Given the description of an element on the screen output the (x, y) to click on. 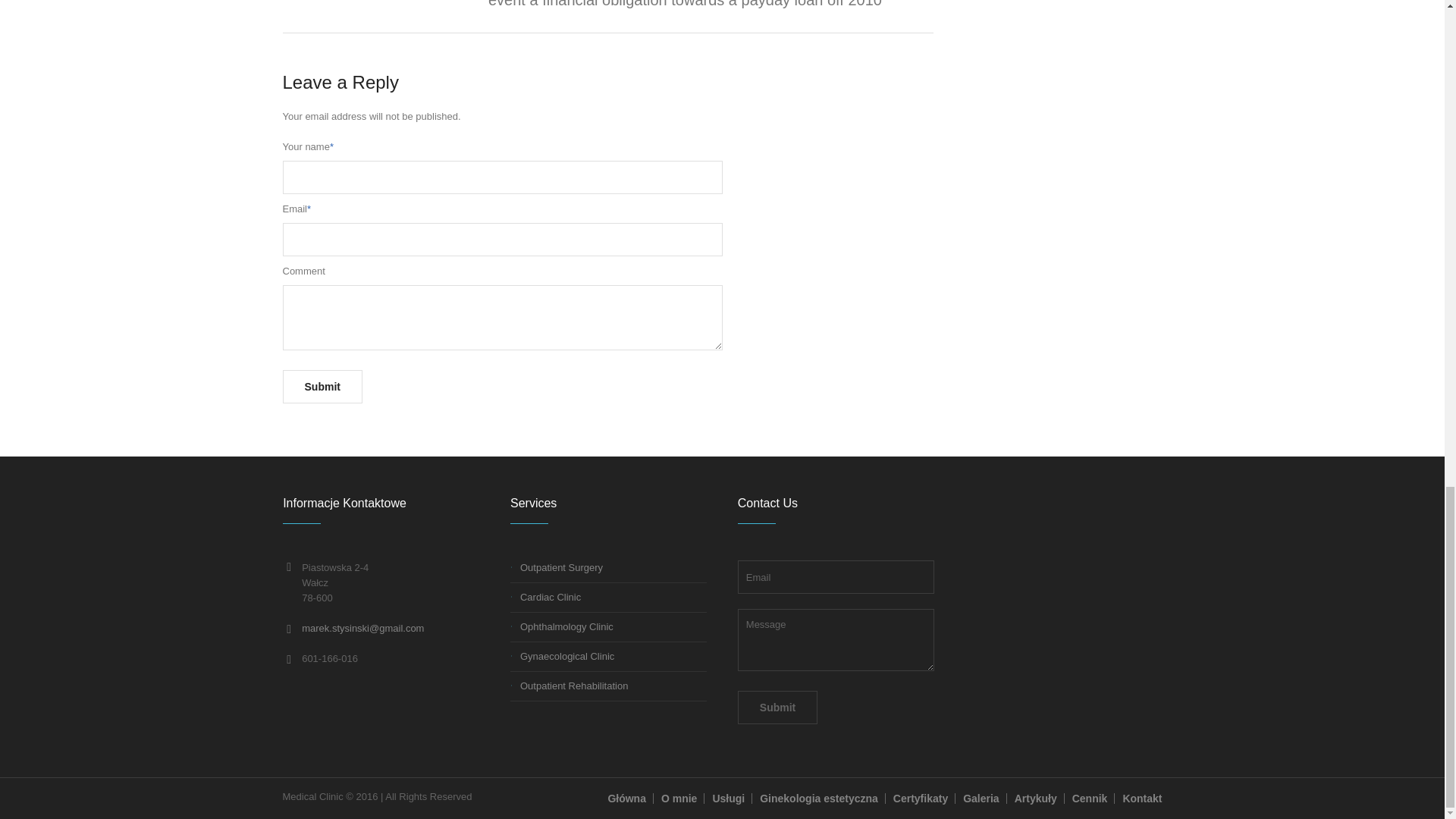
Submit (777, 707)
Ophthalmology Clinic (565, 626)
Ginekologia estetyczna (818, 798)
Cardiac Clinic (549, 596)
Submit (777, 707)
Submit (321, 386)
Outpatient Rehabilitation (573, 685)
Submit (321, 386)
Outpatient Surgery (560, 567)
